Given the description of an element on the screen output the (x, y) to click on. 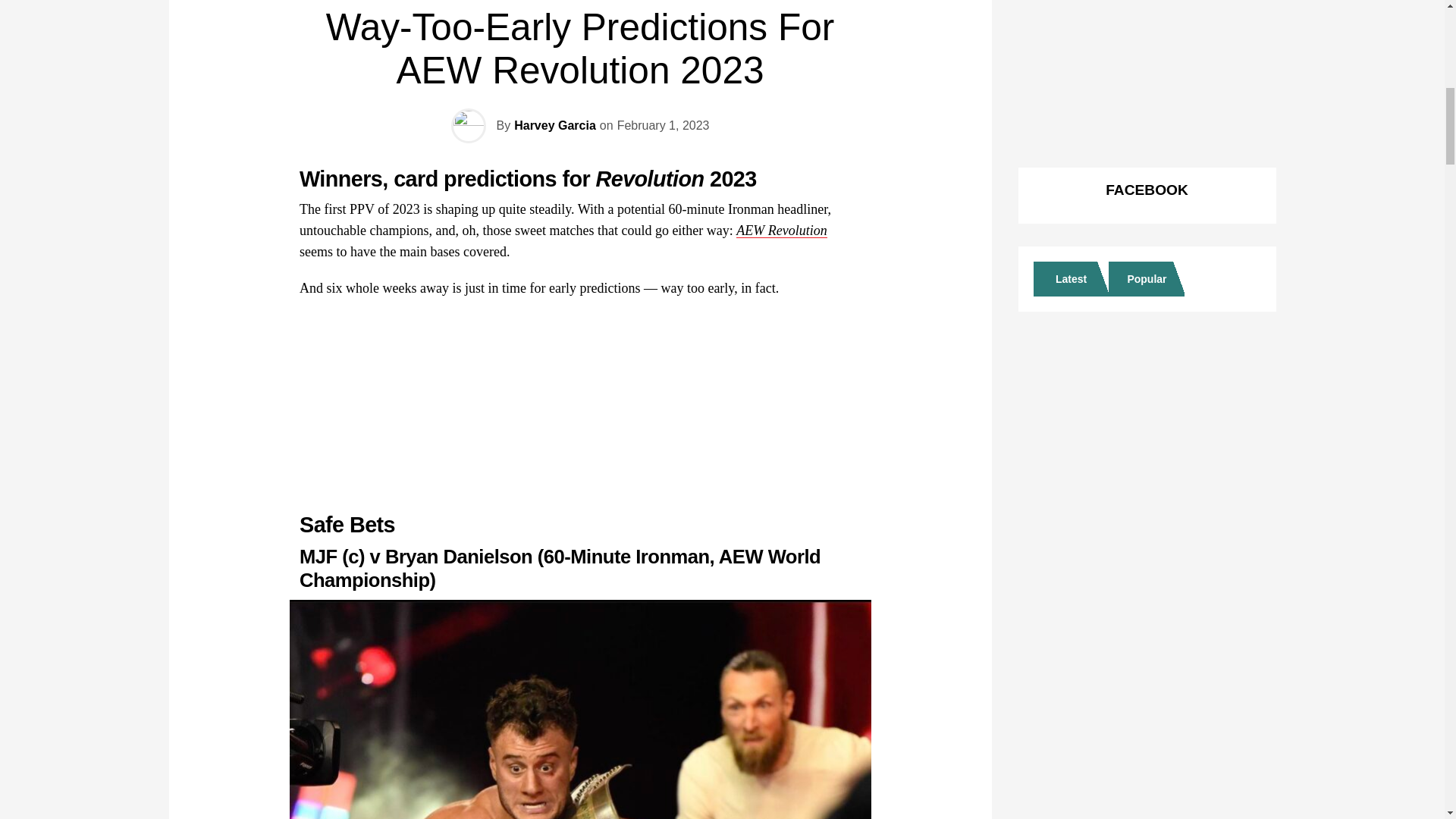
Posts by Harvey Garcia (554, 124)
Harvey Garcia (554, 124)
AEW Revolution (781, 230)
